Given the description of an element on the screen output the (x, y) to click on. 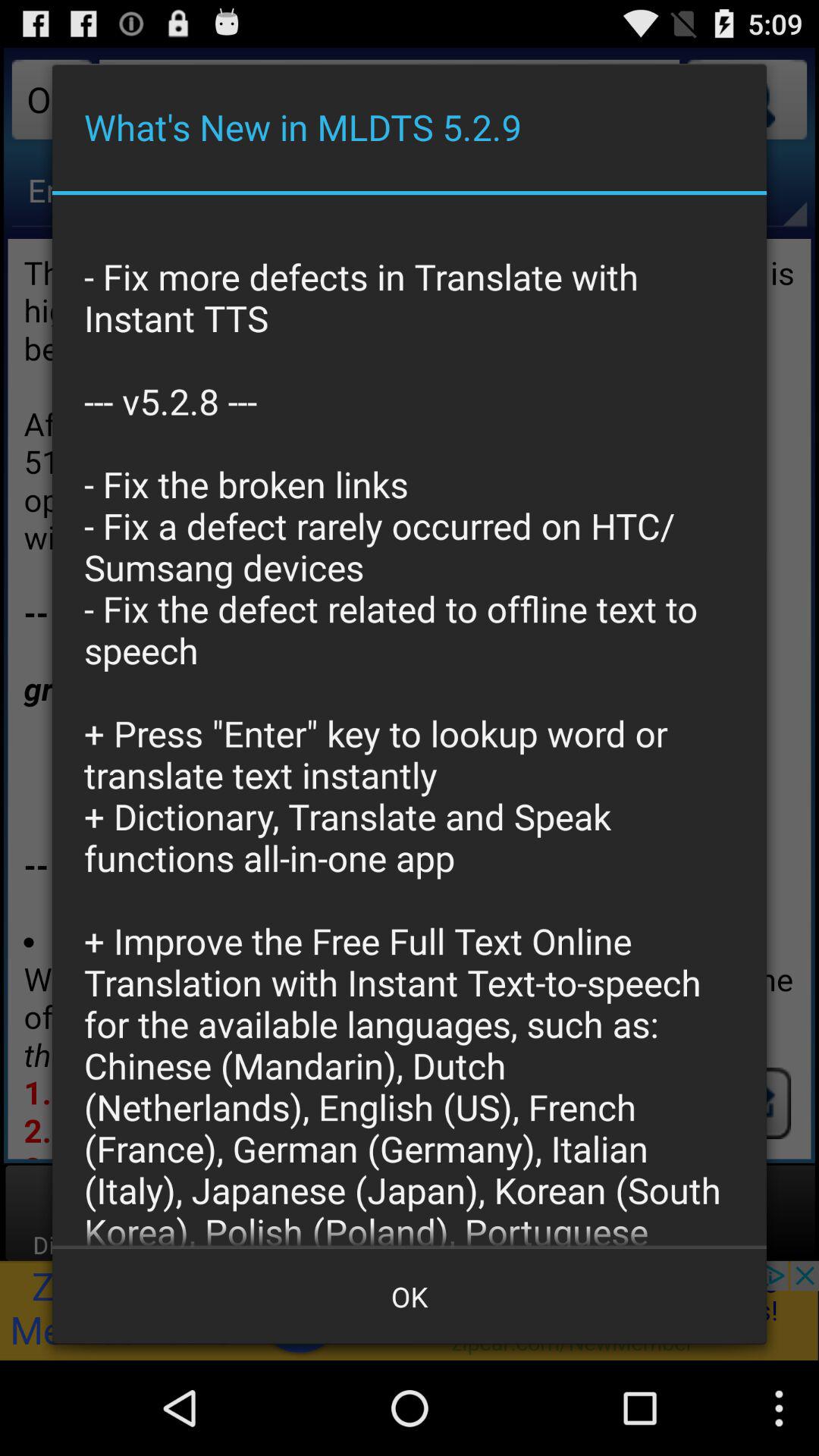
tap the item at the bottom (409, 1296)
